Given the description of an element on the screen output the (x, y) to click on. 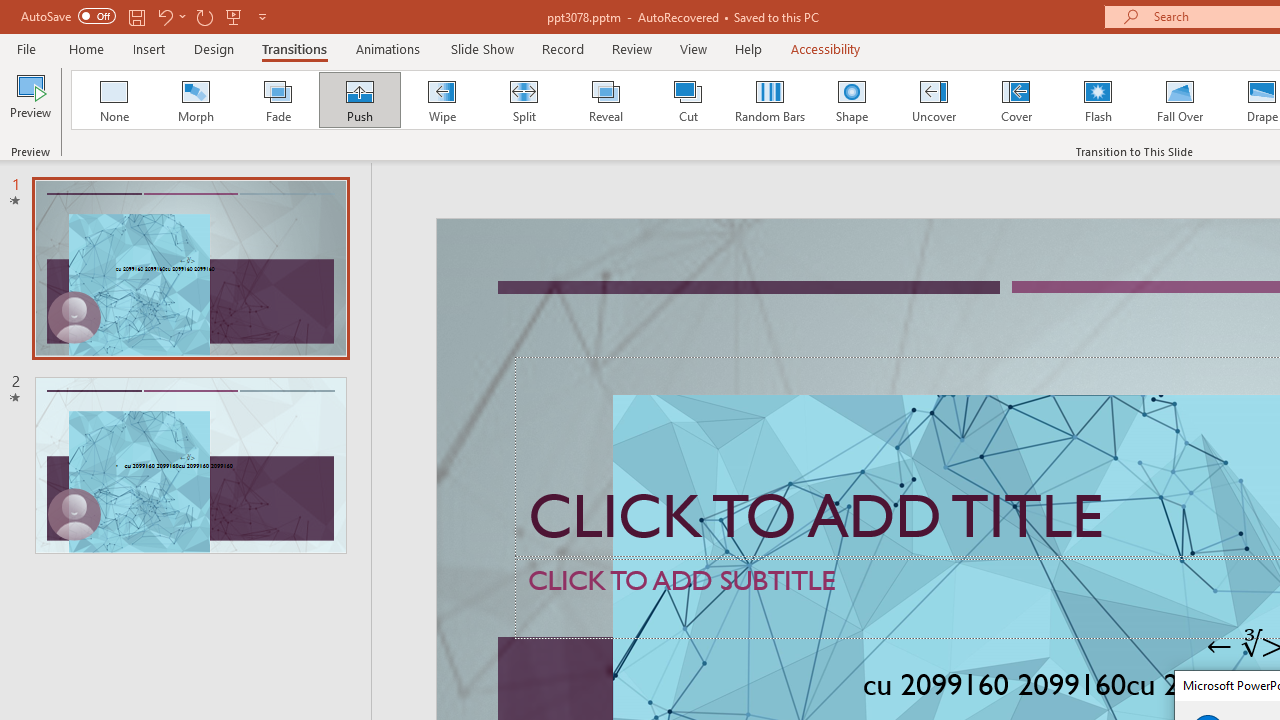
Split (523, 100)
Reveal (605, 100)
Cover (1016, 100)
Uncover (934, 100)
Morph (195, 100)
Flash (1098, 100)
Fall Over (1180, 100)
